Given the description of an element on the screen output the (x, y) to click on. 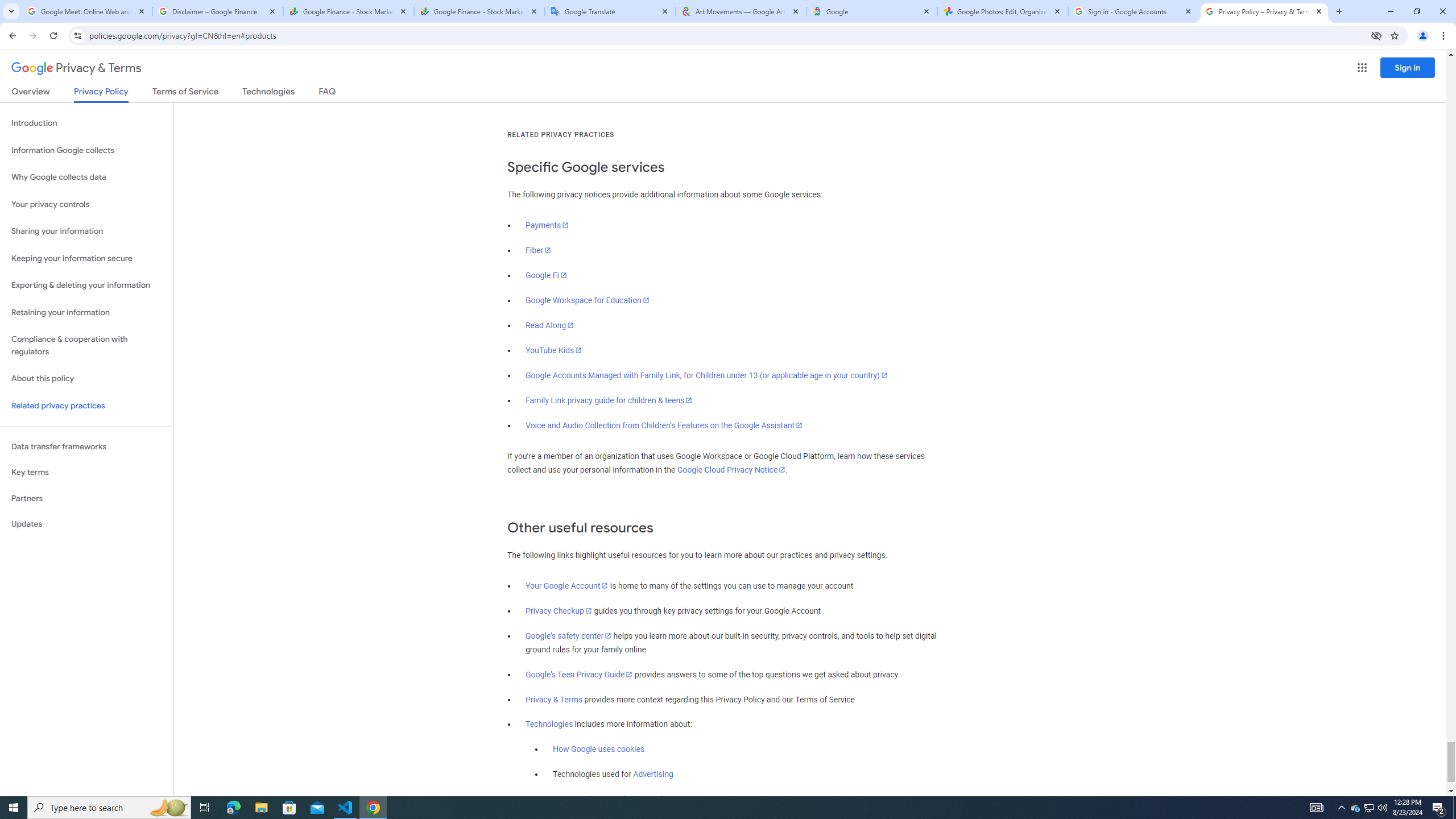
Your Google Account (566, 585)
Information Google collects (86, 150)
Fiber (538, 249)
Google (871, 11)
Your privacy controls (86, 204)
How Google uses cookies (599, 749)
Google Fi (545, 275)
